Given the description of an element on the screen output the (x, y) to click on. 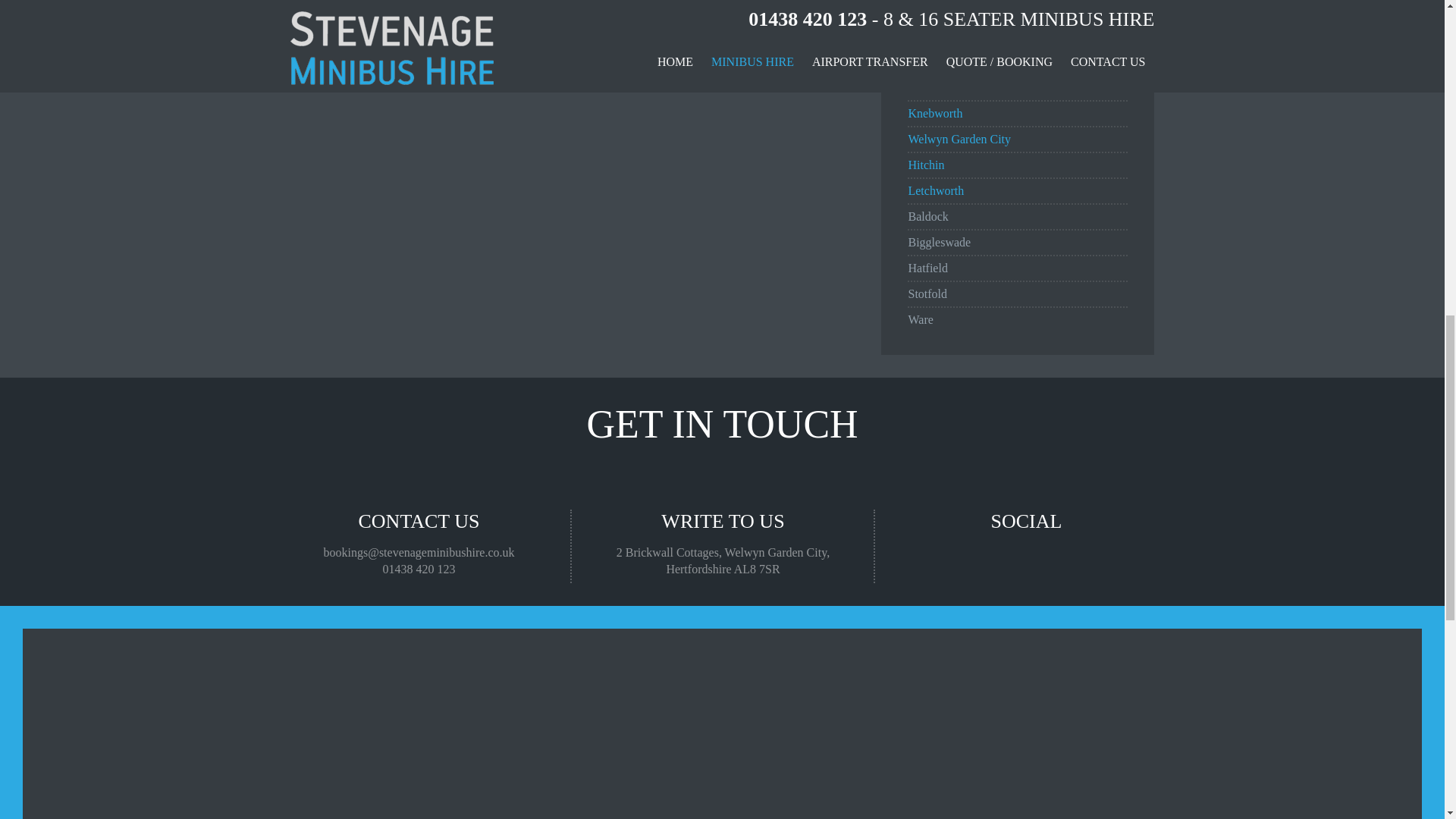
Welwyn Garden City (958, 138)
Letchworth (935, 190)
Hertford (928, 61)
St Albans (931, 87)
Stevenage (932, 35)
Hitchin (925, 164)
Knebworth (934, 113)
